Given the description of an element on the screen output the (x, y) to click on. 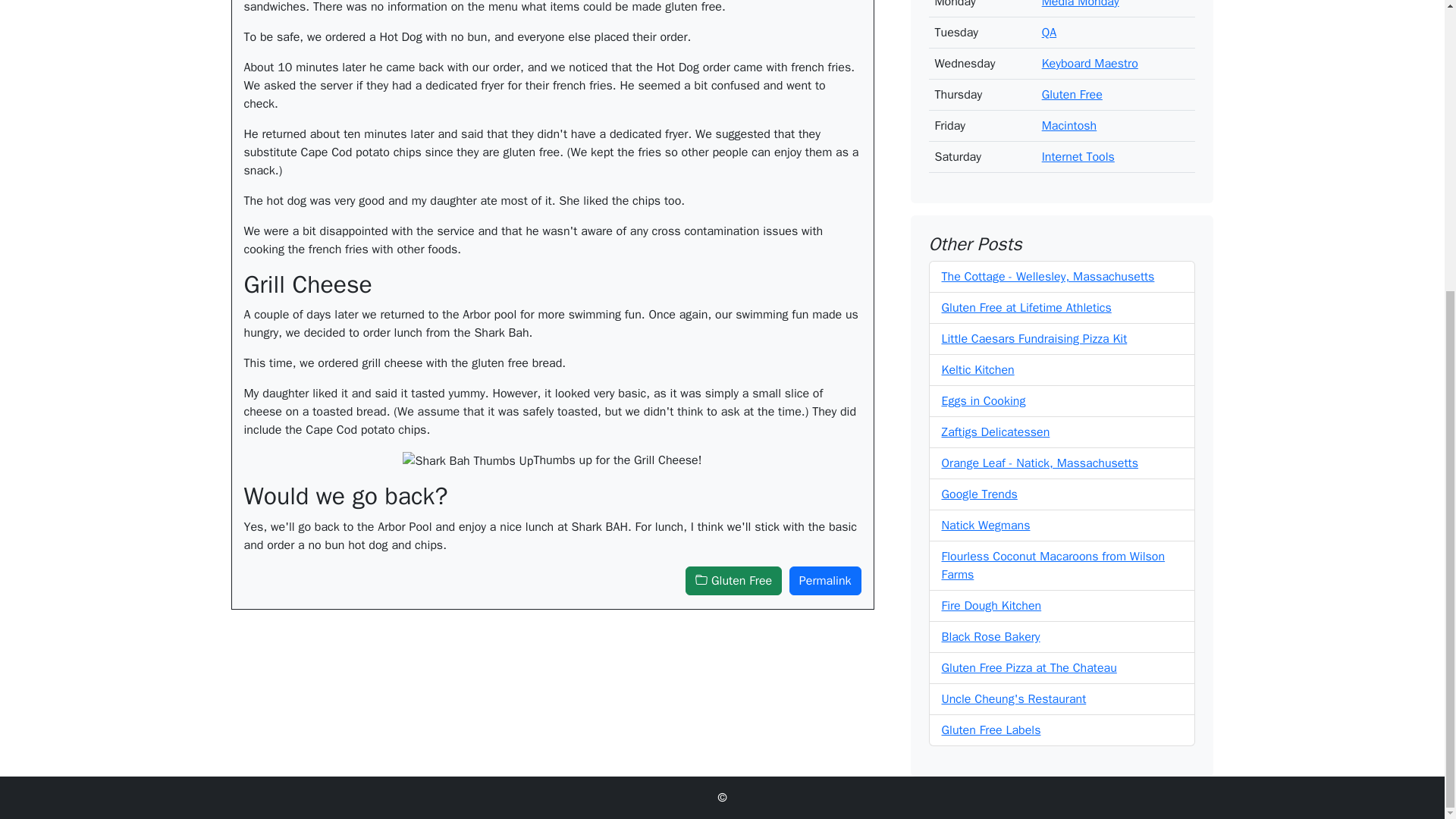
Keltic Kitchen (978, 357)
Permalink (825, 580)
Gluten Free (733, 580)
Uncle Cheung's Restaurant (1014, 686)
Zaftigs Delicatessen (995, 419)
Little Caesars Fundraising Pizza Kit (1034, 326)
Orange Leaf - Natick, Massachusetts (1040, 450)
Keyboard Maestro (1090, 51)
Gluten Free (1072, 82)
QA (1049, 20)
Natick Wegmans (986, 513)
Fire Dough Kitchen (992, 593)
Internet Tools (1078, 144)
The Cottage - Wellesley, Massachusetts (1048, 264)
Gluten Free Labels (991, 717)
